Given the description of an element on the screen output the (x, y) to click on. 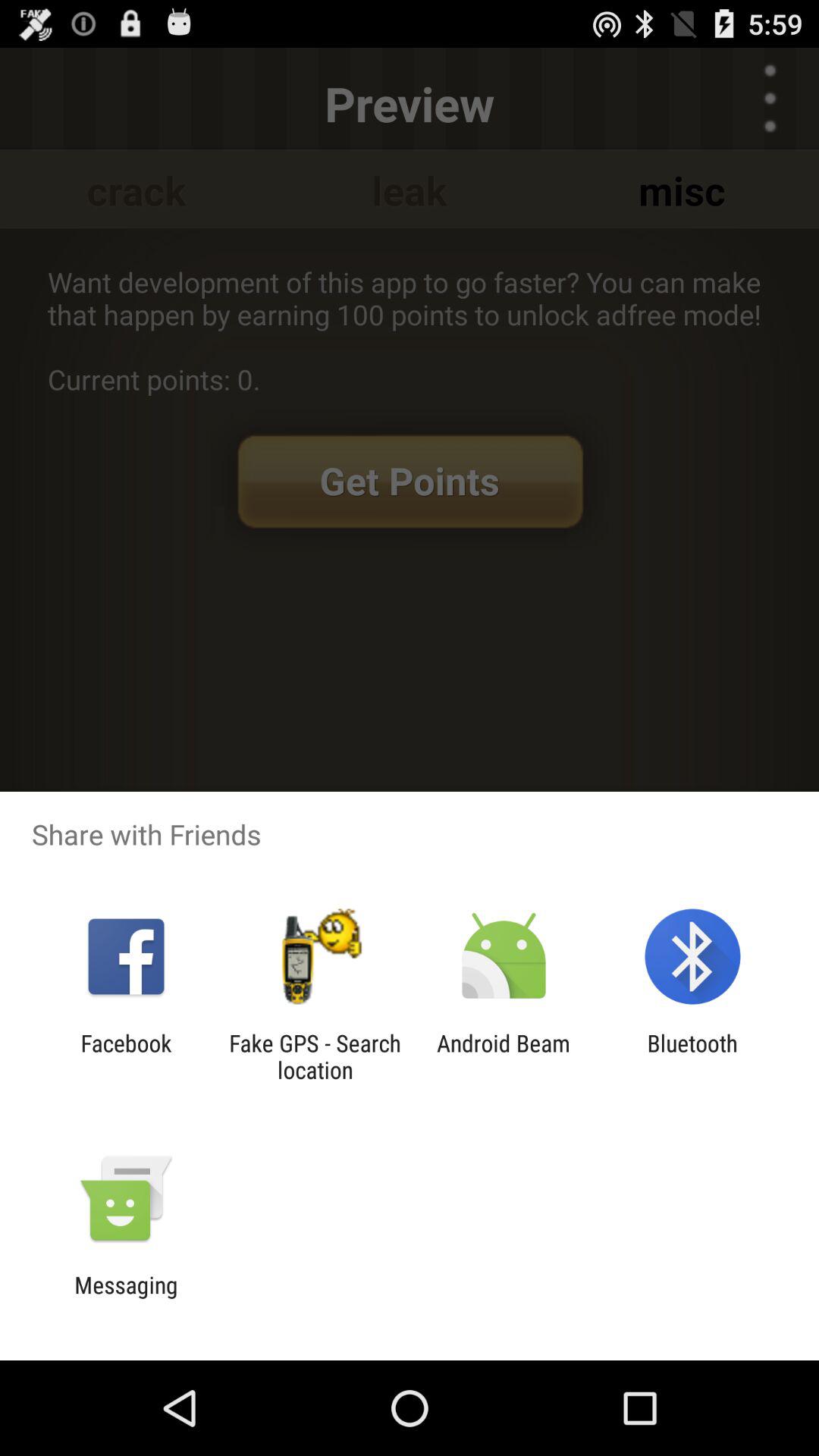
turn on item next to the bluetooth item (503, 1056)
